Given the description of an element on the screen output the (x, y) to click on. 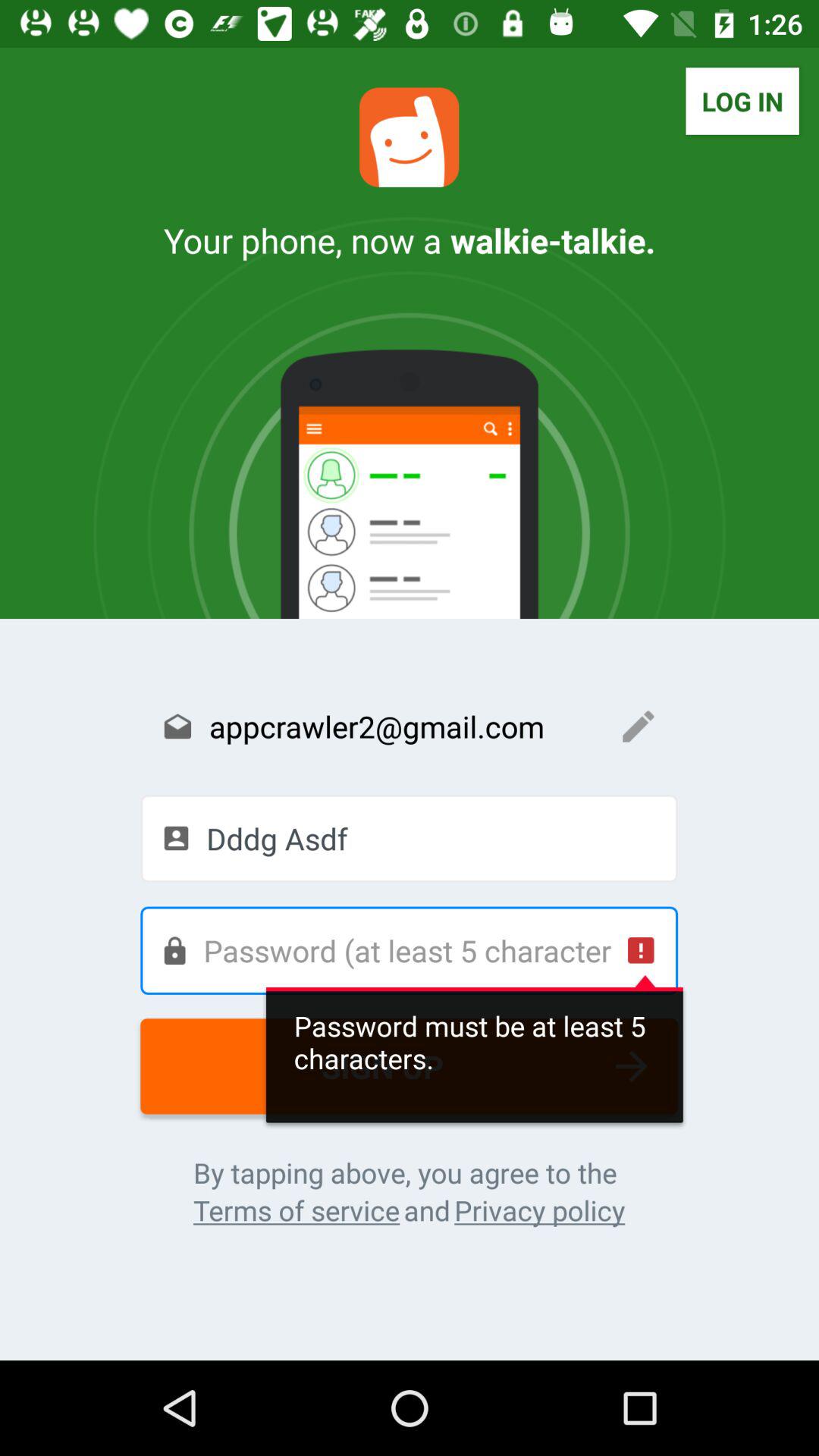
launch the item at the top right corner (742, 100)
